Given the description of an element on the screen output the (x, y) to click on. 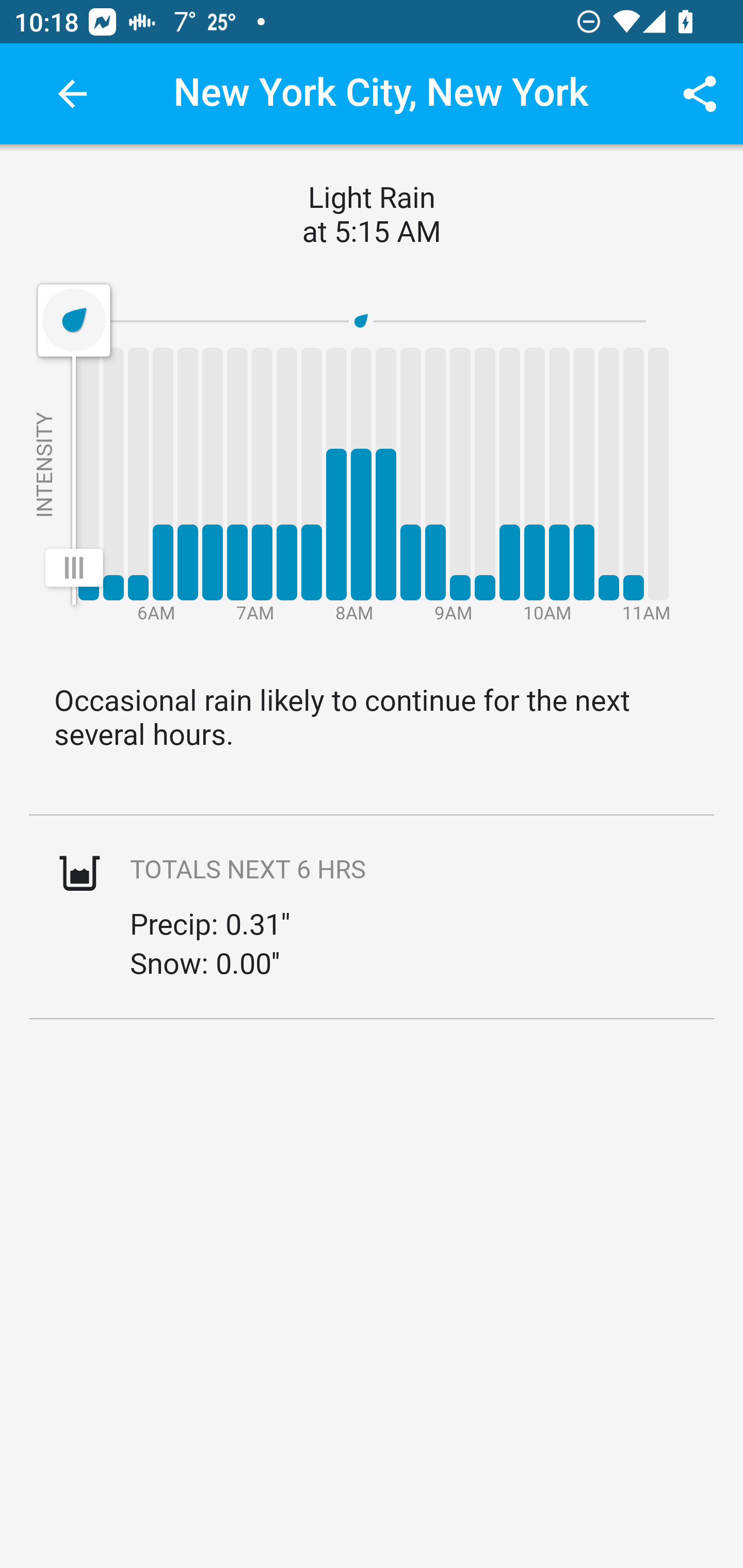
back (71, 93)
Share (699, 93)
